Given the description of an element on the screen output the (x, y) to click on. 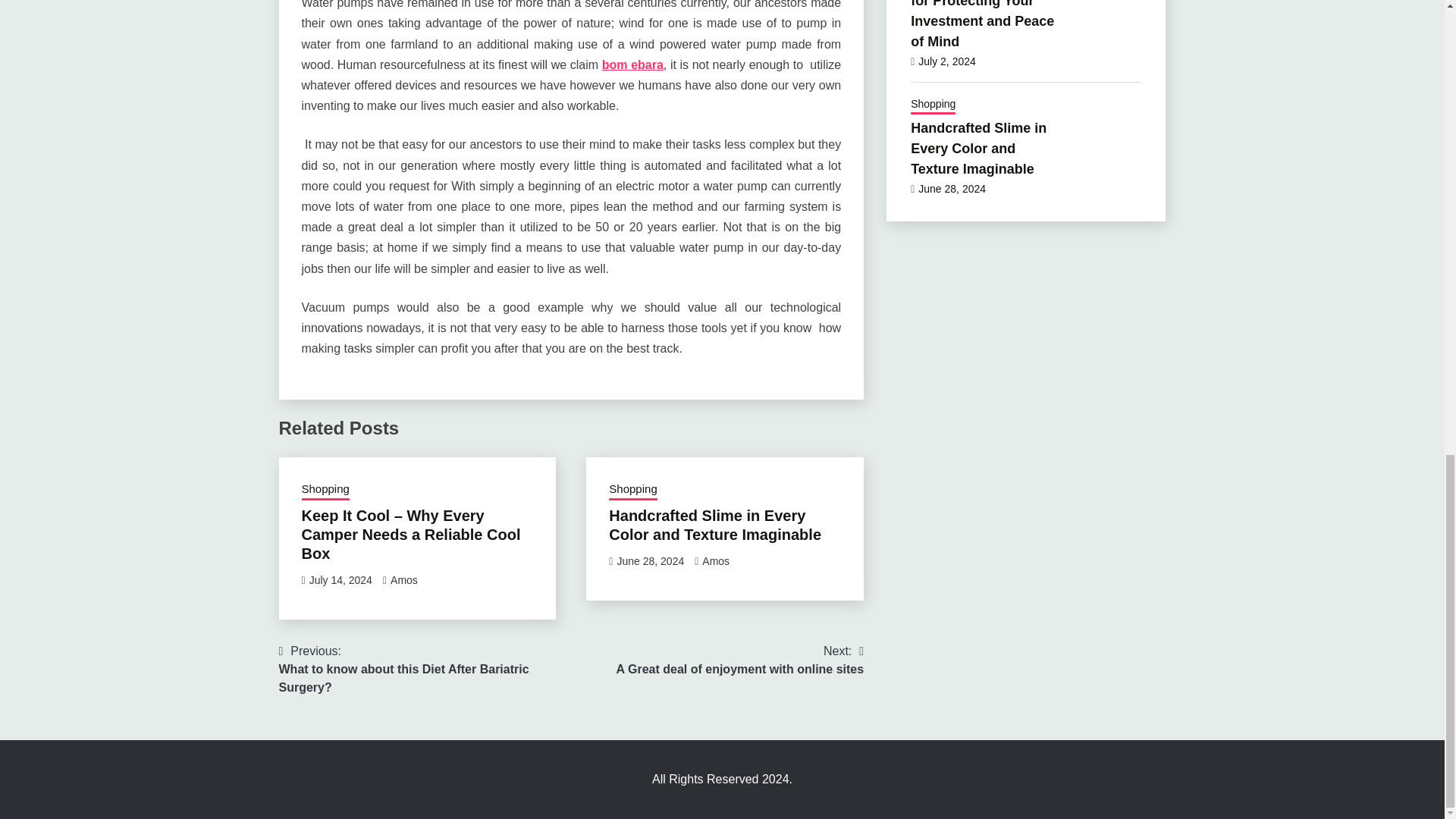
Handcrafted Slime in Every Color and Texture Imaginable (739, 660)
July 14, 2024 (714, 524)
Shopping (340, 580)
Amos (632, 490)
Shopping (715, 561)
Amos (325, 490)
June 28, 2024 (403, 580)
bom ebara (649, 561)
